Given the description of an element on the screen output the (x, y) to click on. 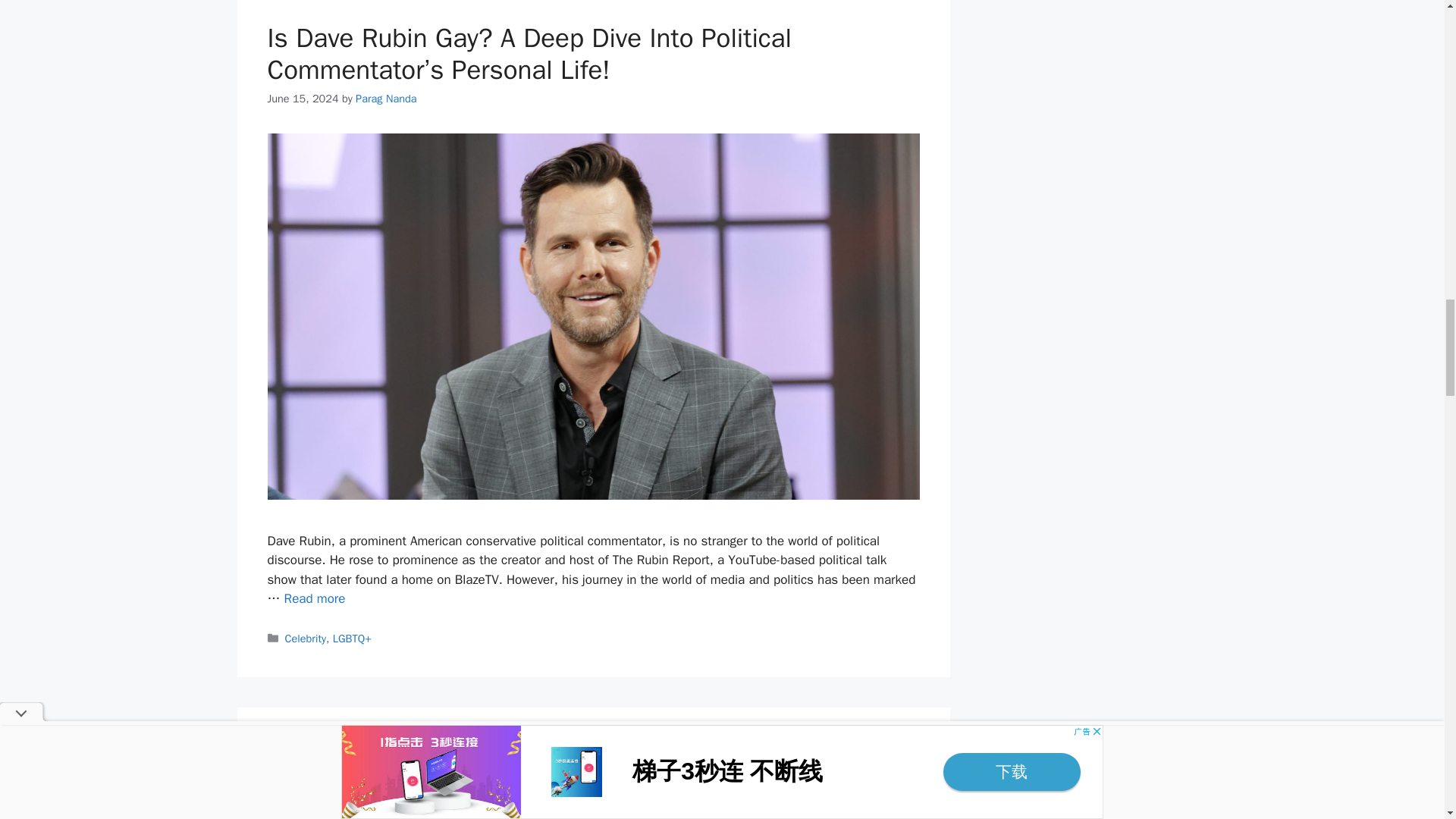
Celebrity (305, 638)
View all posts by Parag Nanda (385, 98)
Mansi (369, 813)
Read more (314, 598)
View all posts by Mansi (369, 813)
Parag Nanda (385, 98)
